Given the description of an element on the screen output the (x, y) to click on. 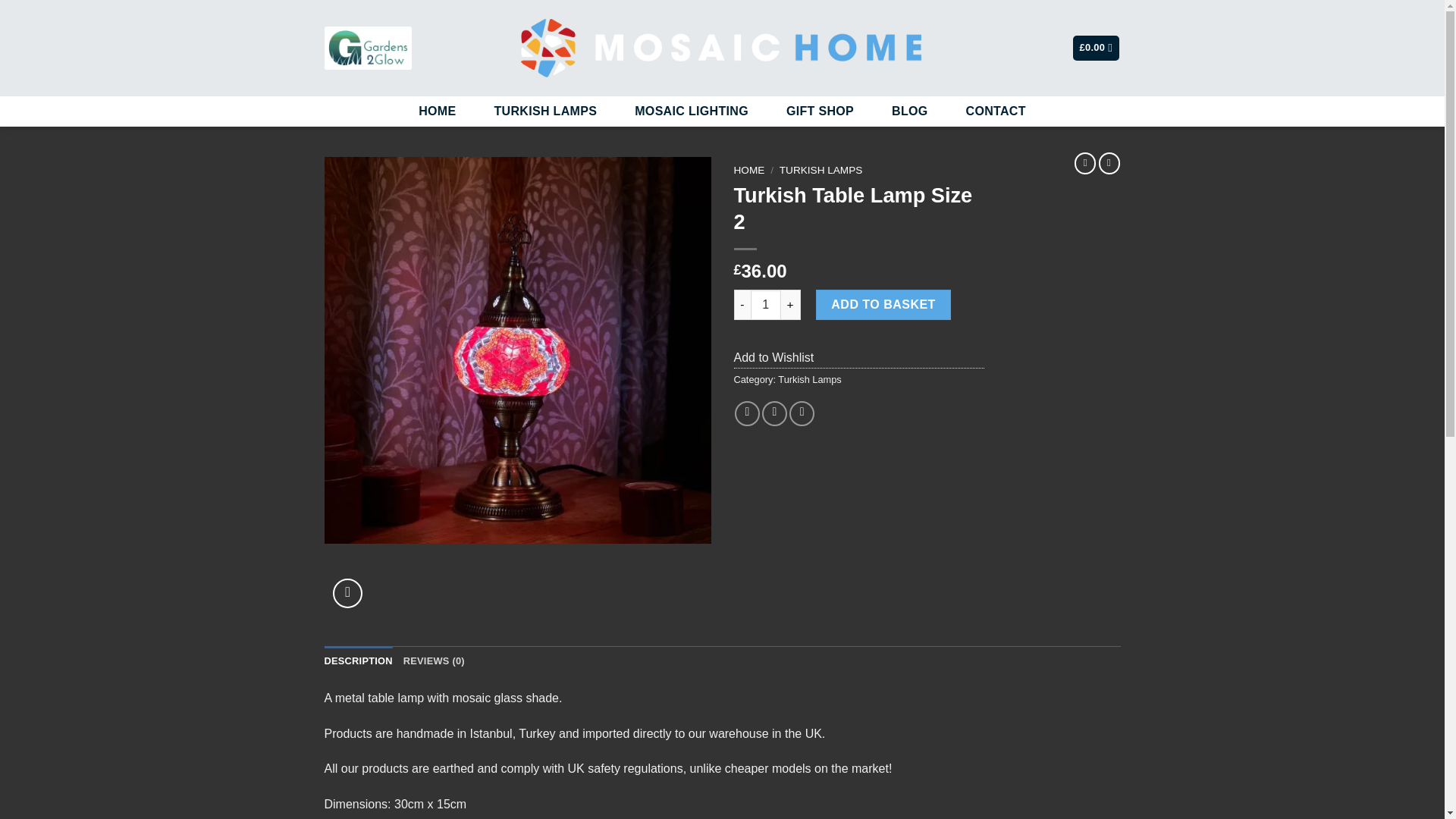
Basket (1096, 48)
GIFT SHOP (820, 111)
Add to Wishlist (773, 357)
TURKISH LAMPS (820, 170)
Mosaic Home - Beautiful Turkish Lamps and More (722, 48)
CONTACT (995, 111)
DESCRIPTION (358, 661)
BLOG (909, 111)
Turkish Lamps (809, 378)
MOSAIC LIGHTING (691, 111)
1 (765, 304)
HOME (749, 170)
Qty (765, 304)
HOME (436, 111)
